Given the description of an element on the screen output the (x, y) to click on. 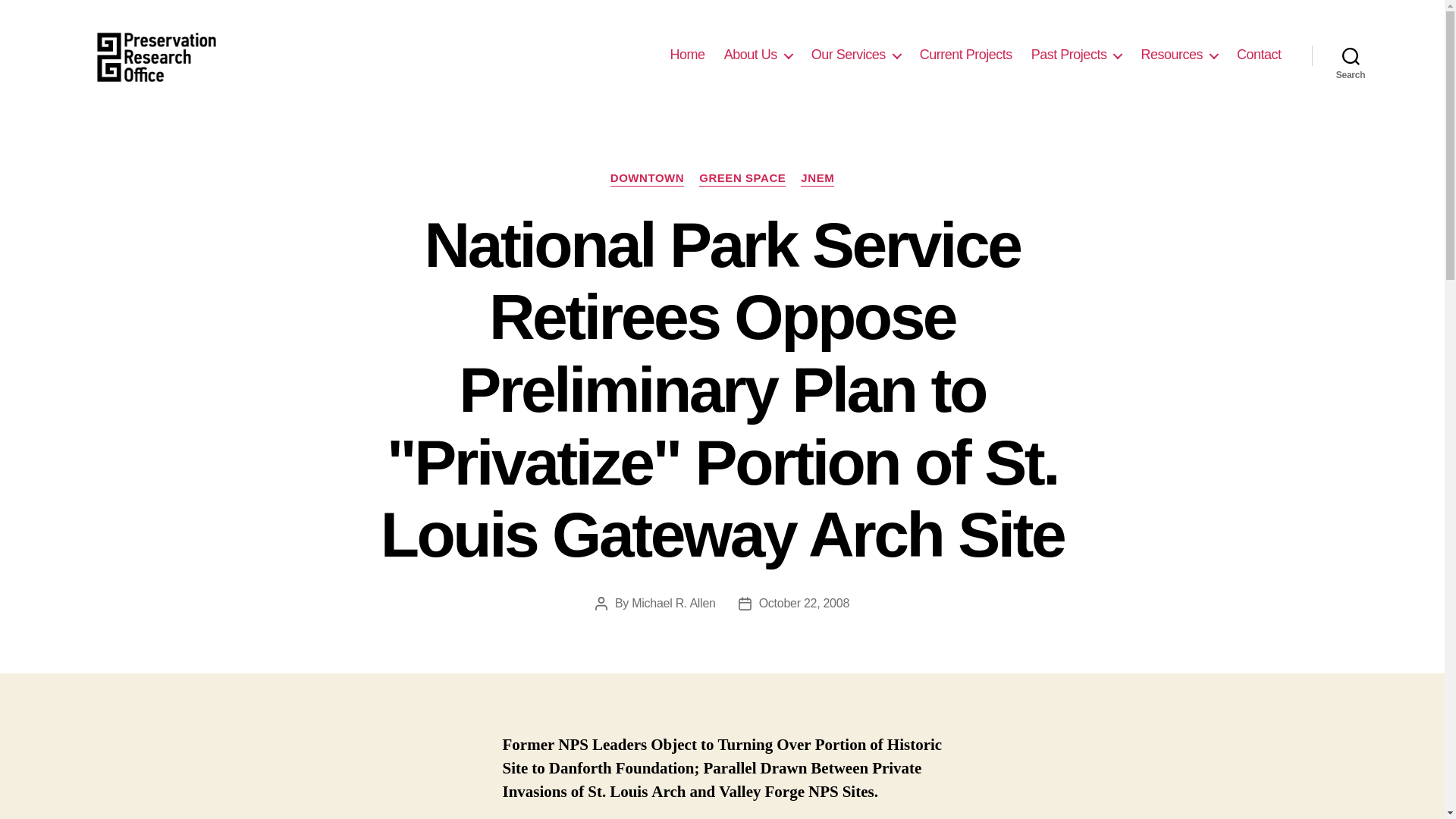
Home (686, 54)
Resources (1178, 54)
About Us (757, 54)
Past Projects (1076, 54)
Our Services (855, 54)
Current Projects (965, 54)
Contact (1258, 54)
Search (1350, 55)
